Given the description of an element on the screen output the (x, y) to click on. 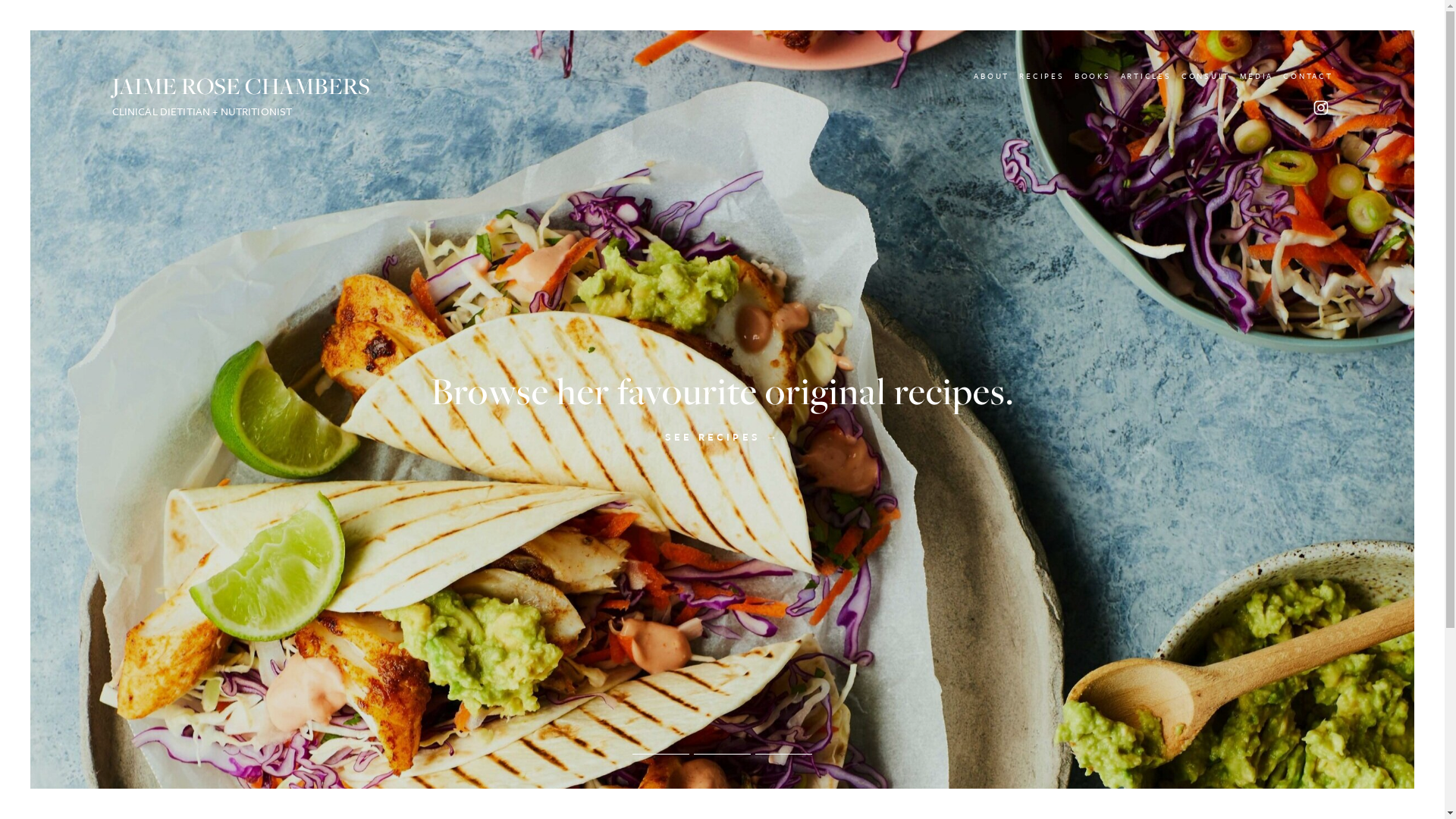
ARTICLES Element type: text (1145, 75)
RECIPES Element type: text (1041, 75)
MEDIA Element type: text (1256, 75)
CONSULT Element type: text (1205, 75)
JAIME ROSE CHAMBERS Element type: text (240, 86)
CONTACT Element type: text (1307, 75)
BOOKS Element type: text (1092, 75)
ABOUT Element type: text (991, 75)
